Given the description of an element on the screen output the (x, y) to click on. 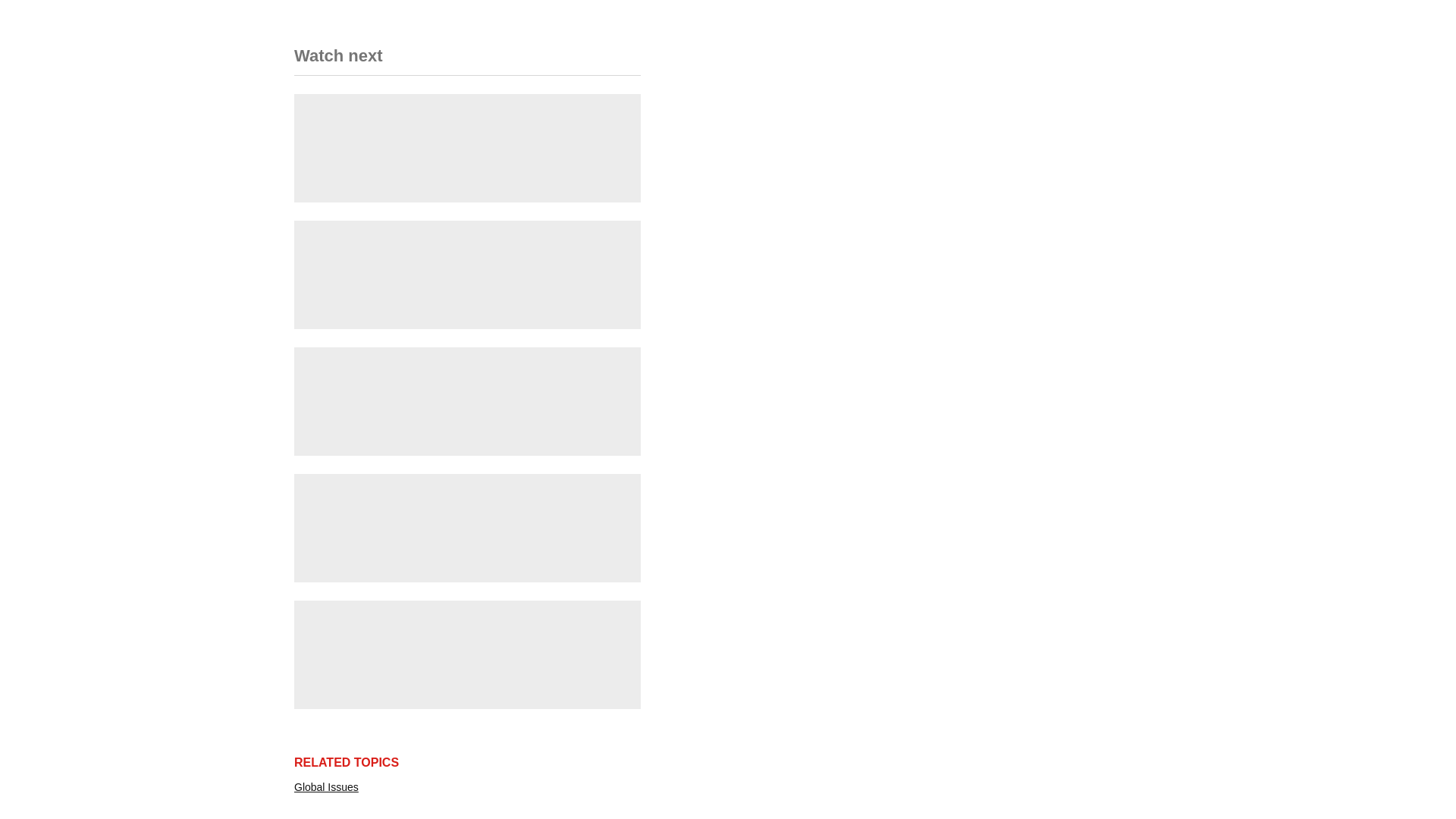
Watch next (467, 66)
Global Issues (326, 787)
Watch next (338, 60)
